Given the description of an element on the screen output the (x, y) to click on. 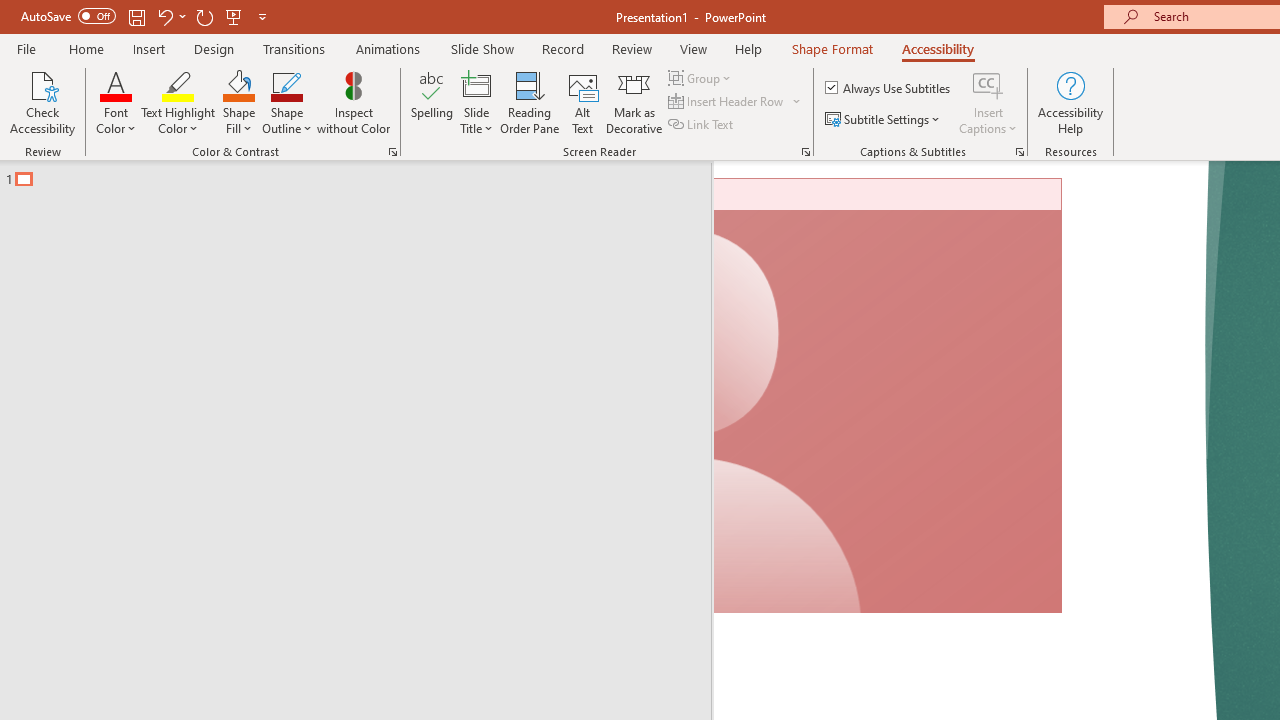
Font Color (116, 102)
Spelling... (432, 102)
Help (748, 48)
Review (631, 48)
Text Highlight Color Yellow (178, 84)
Camera 7, No camera detected. (888, 395)
AutoSave (68, 16)
Inspect without Color (353, 102)
Redo (204, 15)
Text Highlight Color (178, 102)
Reading Order Pane (529, 102)
Insert Captions (988, 102)
Screen Reader (805, 151)
Link Text (702, 124)
